Given the description of an element on the screen output the (x, y) to click on. 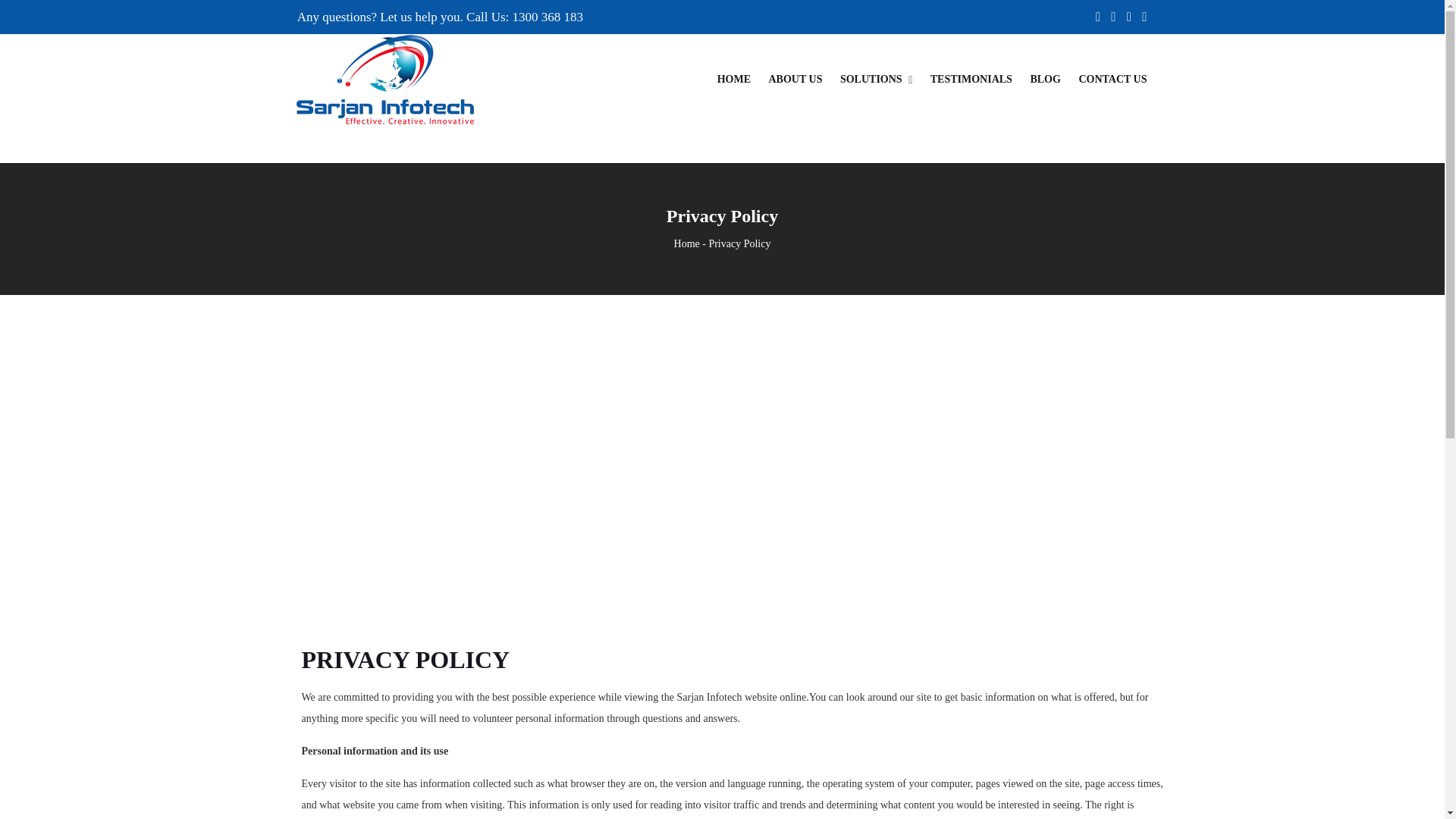
ABOUT US (795, 79)
1300 368 183 (551, 16)
SOLUTIONS (871, 79)
CONTACT US (1112, 79)
TESTIMONIALS (970, 79)
